Given the description of an element on the screen output the (x, y) to click on. 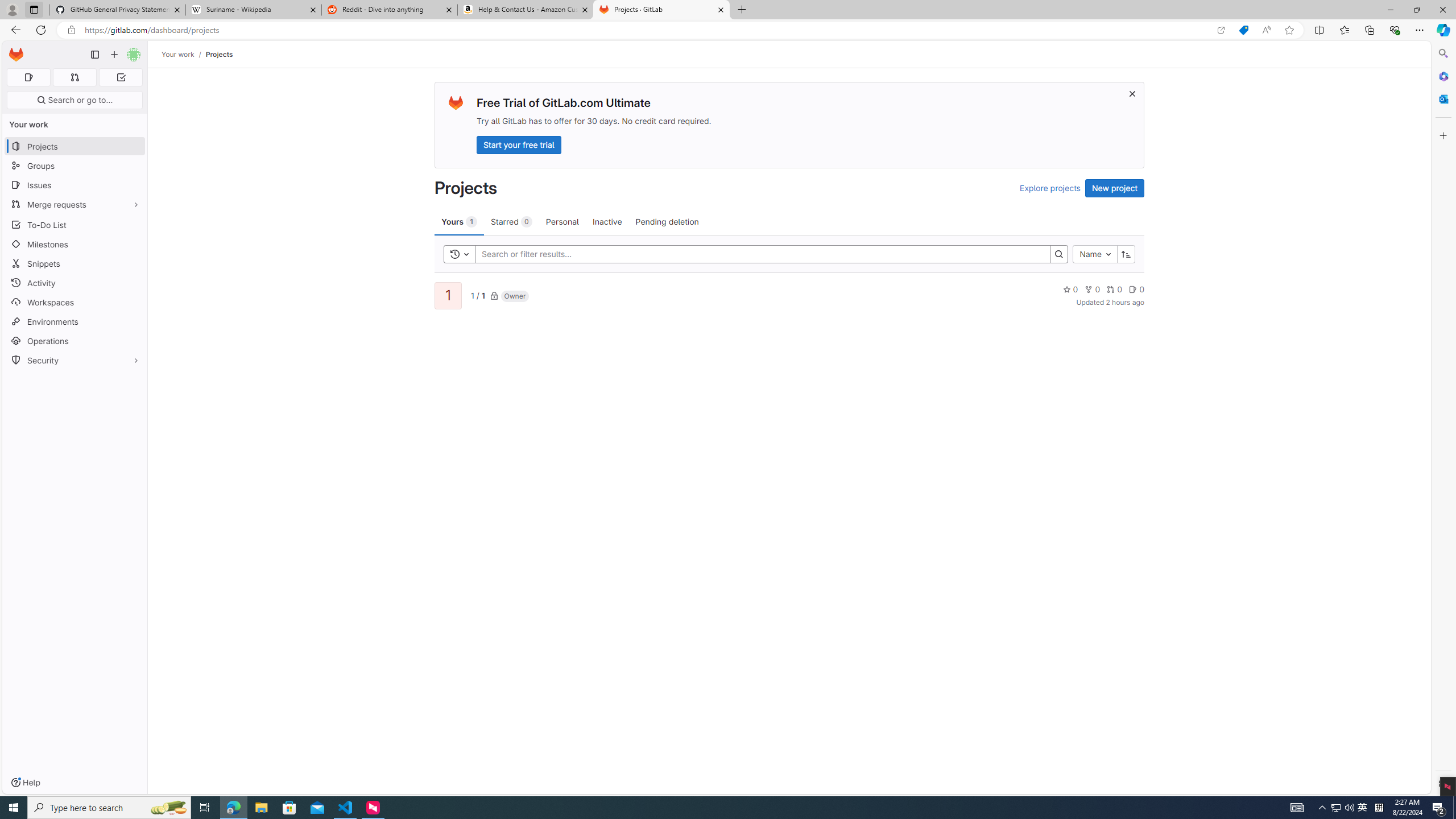
Class: s14 gl-mr-2 (1132, 289)
Snippets (74, 262)
Open in app (1220, 29)
Suriname - Wikipedia (253, 9)
Merge requests (74, 203)
Inactive (606, 221)
Groups (74, 165)
Operations (74, 340)
1 (447, 295)
Milestones (74, 244)
